Given the description of an element on the screen output the (x, y) to click on. 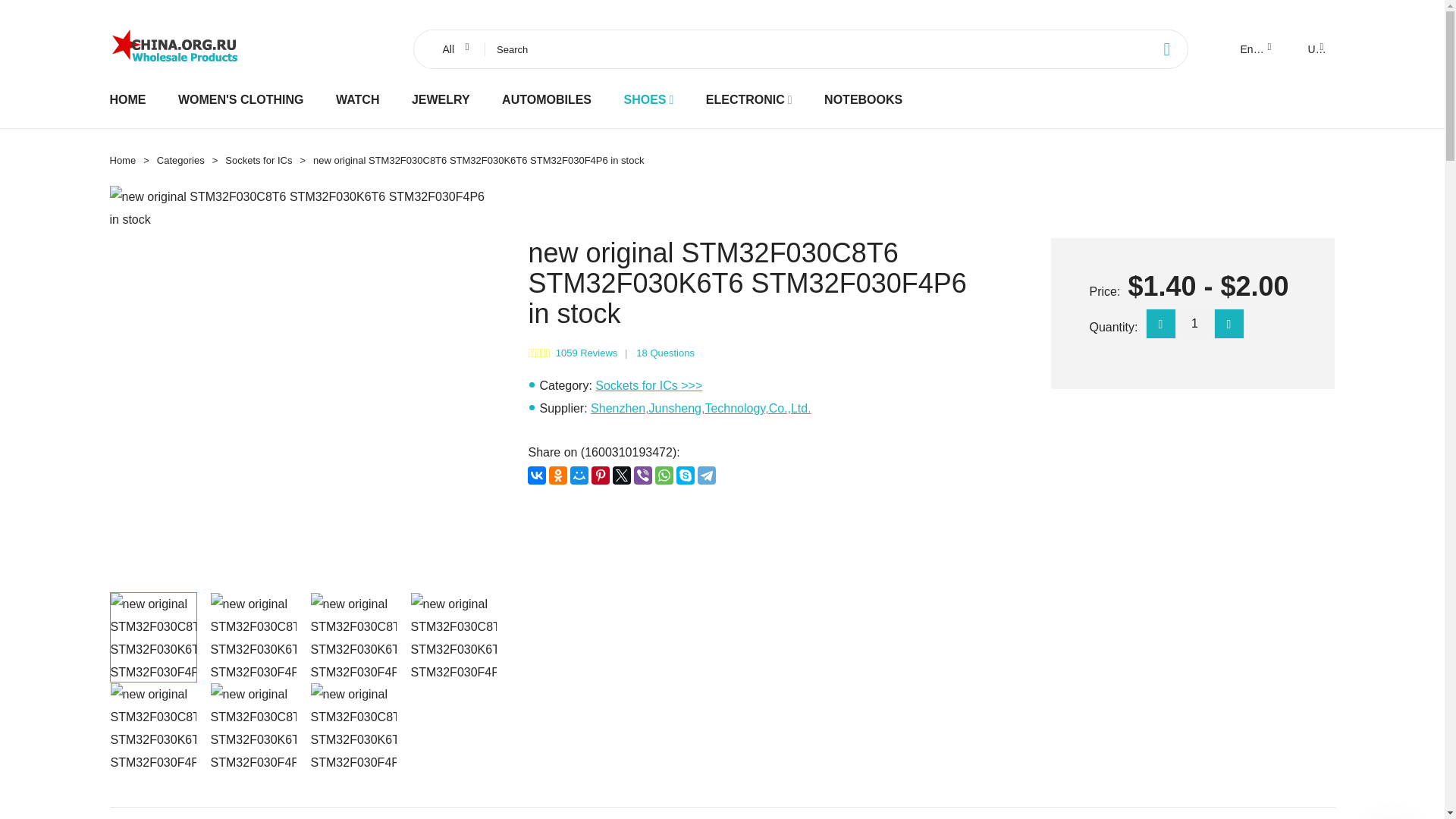
SHOES (644, 99)
All (454, 48)
Telegram (706, 475)
NOTEBOOKS (863, 99)
HOME (127, 99)
1059 Reviews (586, 352)
JEWELRY (441, 99)
Twitter (621, 475)
Home (122, 160)
Advertisement (756, 612)
Viber (642, 475)
Skype (685, 475)
Pinterest (600, 475)
1 (1194, 323)
Categories (181, 160)
